Given the description of an element on the screen output the (x, y) to click on. 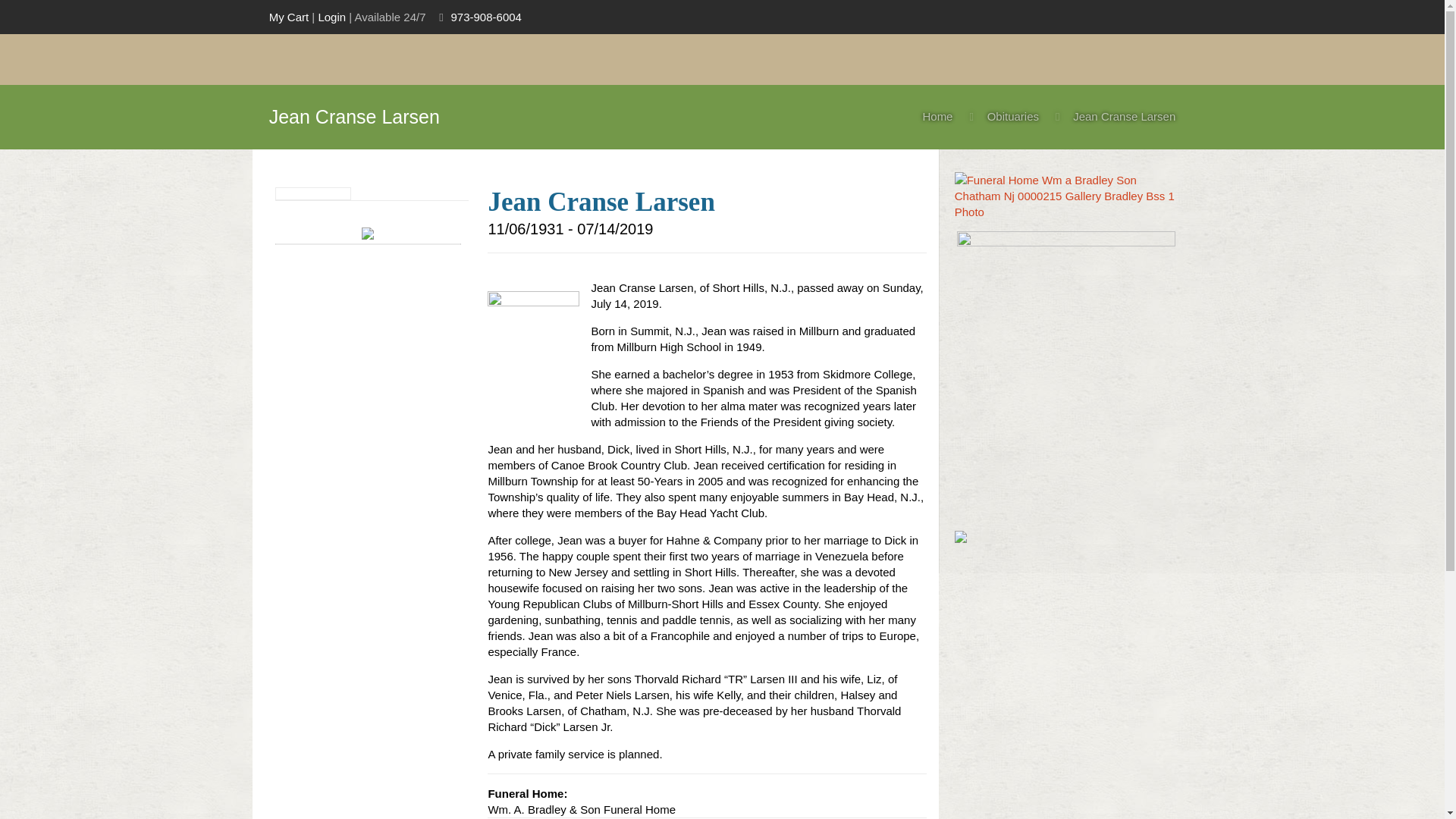
Login (331, 16)
My Cart (288, 16)
973-908-6004 (485, 16)
Login (331, 16)
